Given the description of an element on the screen output the (x, y) to click on. 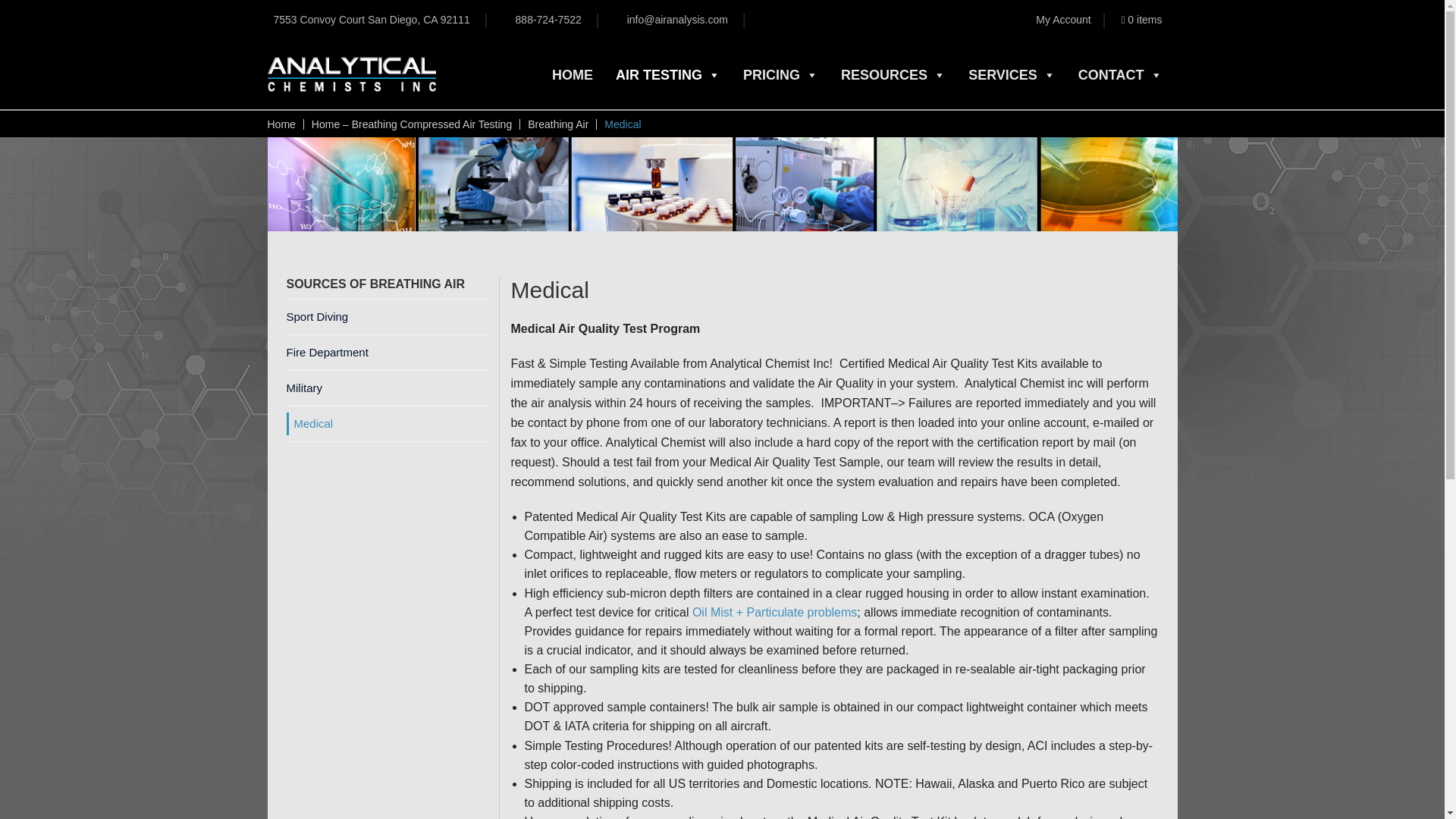
Breathing Air (557, 123)
Start shopping (1141, 19)
AIR TESTING (668, 75)
0 items (1141, 19)
PRICING (780, 75)
My Account (1062, 19)
Home (280, 123)
RESOURCES (892, 75)
Medical (721, 183)
HOME (571, 75)
